Given the description of an element on the screen output the (x, y) to click on. 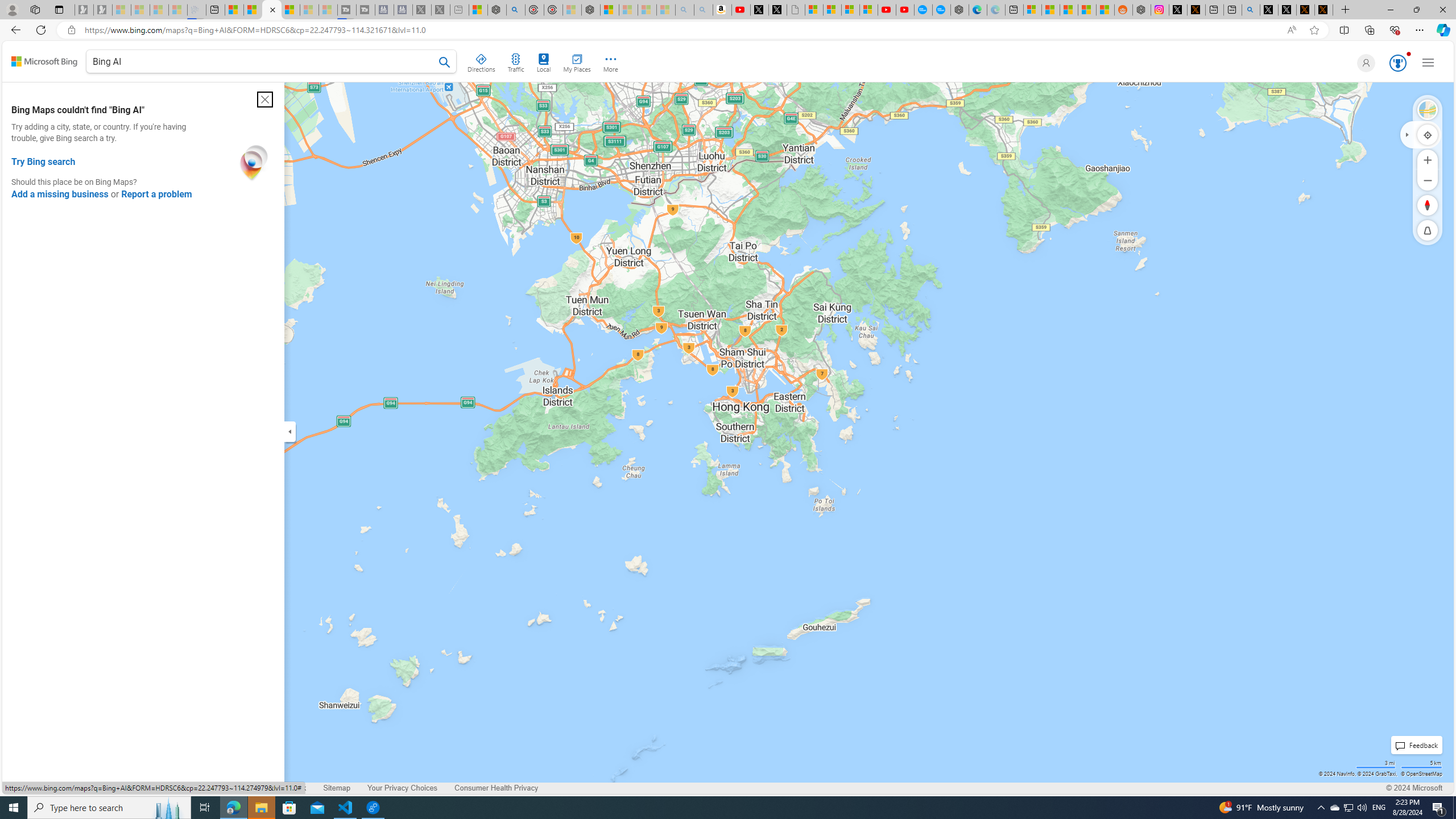
Sitemap (336, 787)
About our ads (200, 787)
Reset to Default Pitch (1427, 230)
Microsoft Start - Sleeping (309, 9)
Select Style (1427, 109)
Traffic (514, 60)
Directions (481, 60)
The most popular Google 'how to' searches (941, 9)
AutomationID: serp_medal_svg (1397, 63)
github - Search (1251, 9)
Bing AI - Bing Maps (271, 9)
